Given the description of an element on the screen output the (x, y) to click on. 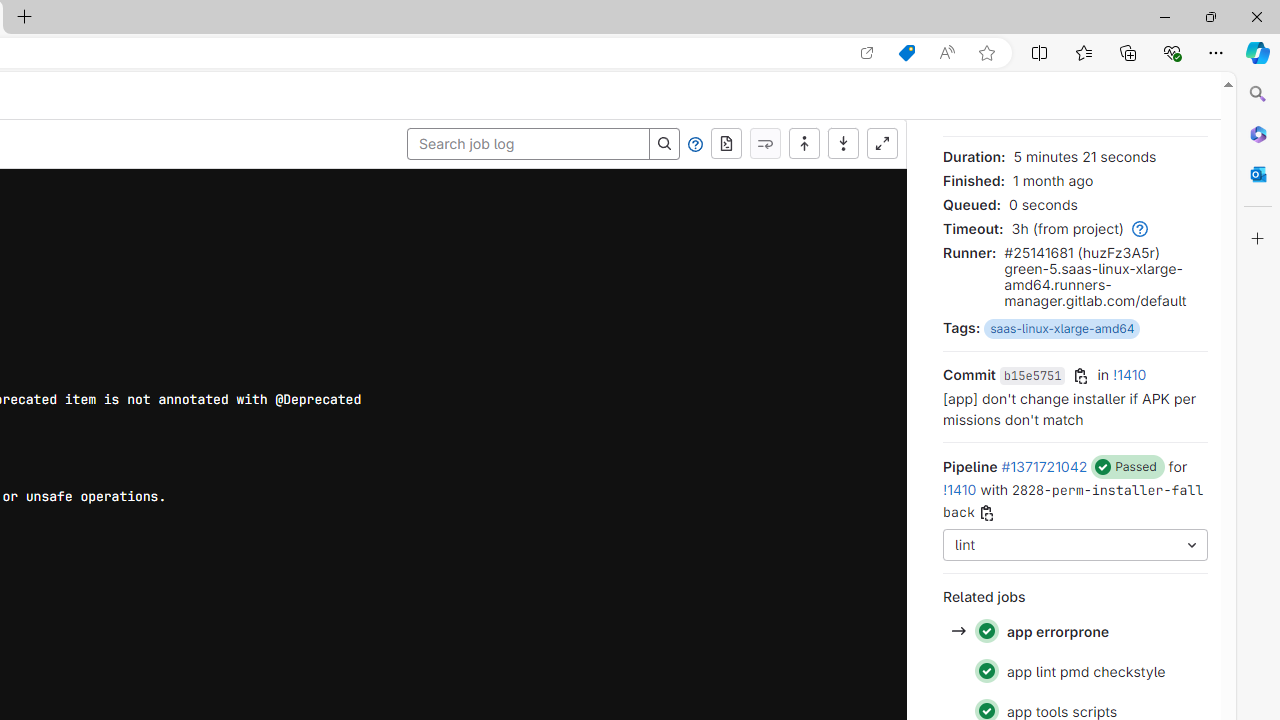
Help (695, 144)
Show complete raw (726, 143)
Class: gl-link (1137, 228)
